Given the description of an element on the screen output the (x, y) to click on. 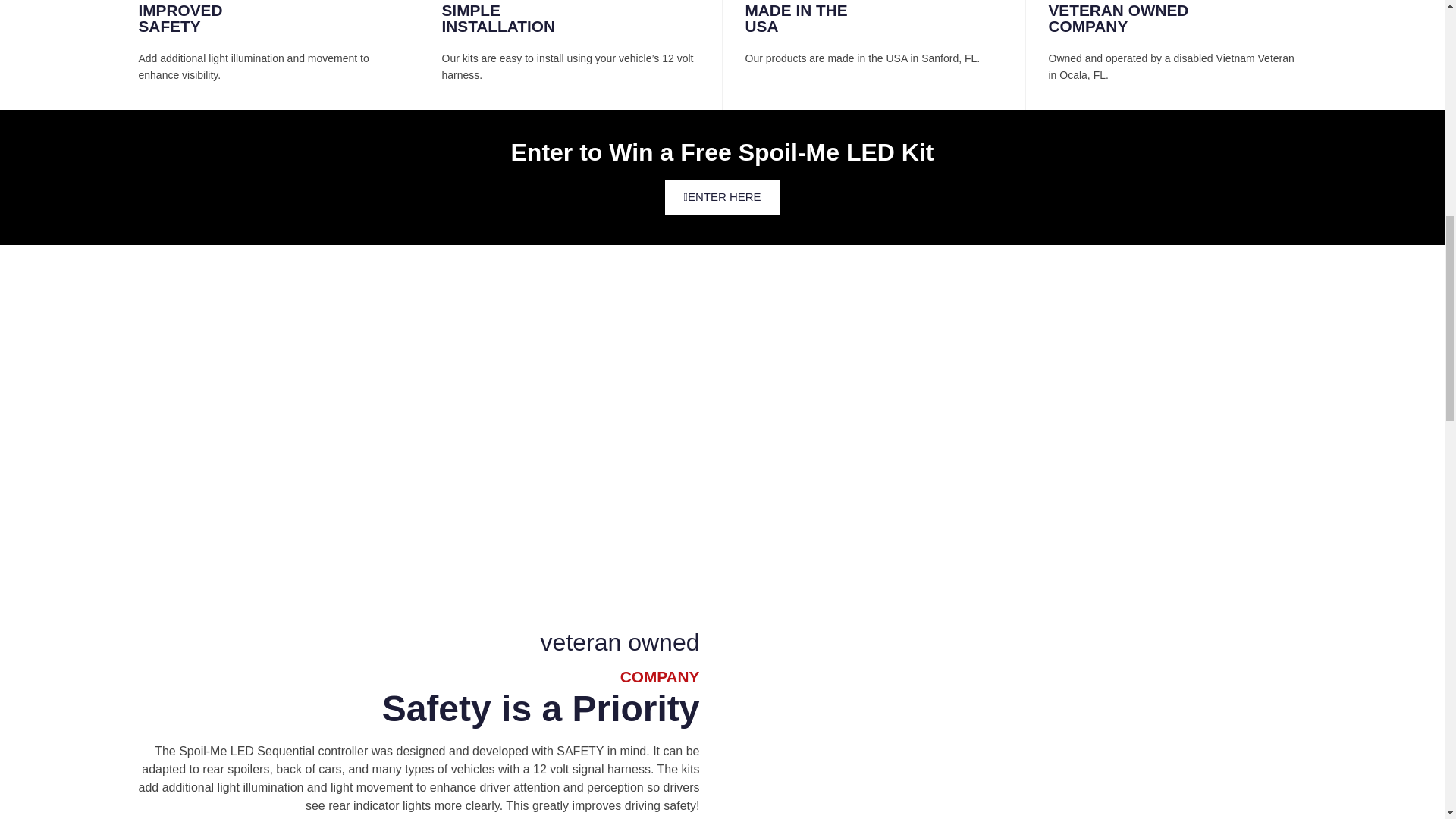
ENTER HERE (721, 197)
